Given the description of an element on the screen output the (x, y) to click on. 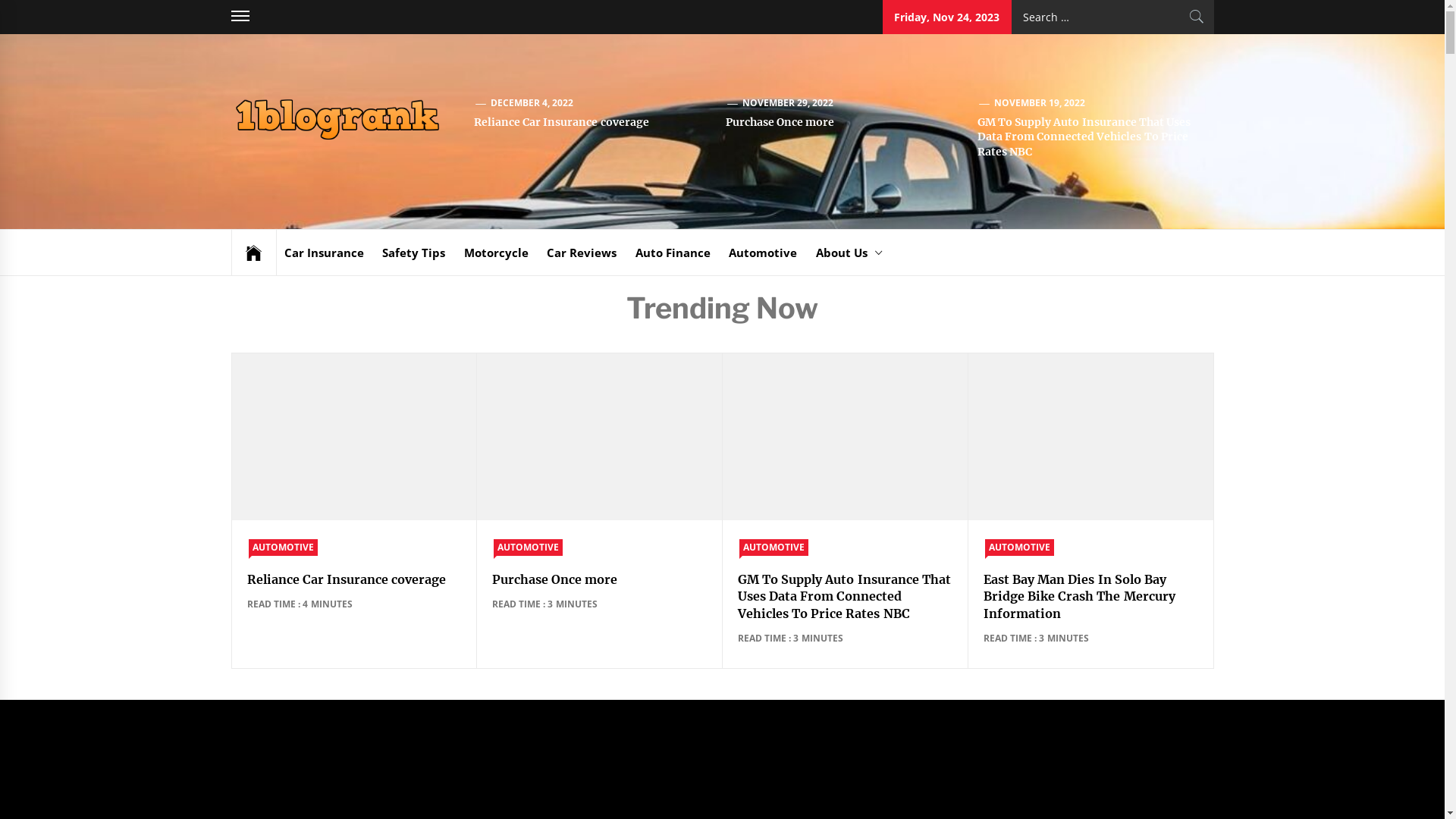
Automotive Element type: text (762, 252)
NOVEMBER 19, 2022 Element type: text (1039, 102)
DECEMBER 4, 2022 Element type: text (532, 102)
Safety Tips Element type: text (413, 252)
NOVEMBER 29, 2022 Element type: text (788, 102)
Search Element type: text (1196, 17)
AUTOMOTIVE Element type: text (772, 547)
Car Reviews Element type: text (581, 252)
Reliance Car Insurance coverage Element type: text (561, 121)
1 blogrank Element type: text (513, 131)
Reliance Car Insurance coverage Element type: text (346, 578)
Motorcycle Element type: text (496, 252)
AUTOMOTIVE Element type: text (1018, 547)
Purchase Once more Element type: text (554, 578)
About Us Element type: text (848, 252)
Car Insurance Element type: text (323, 252)
Auto Finance Element type: text (672, 252)
Purchase Once more Element type: text (779, 121)
AUTOMOTIVE Element type: text (526, 547)
AUTOMOTIVE Element type: text (282, 547)
